Given the description of an element on the screen output the (x, y) to click on. 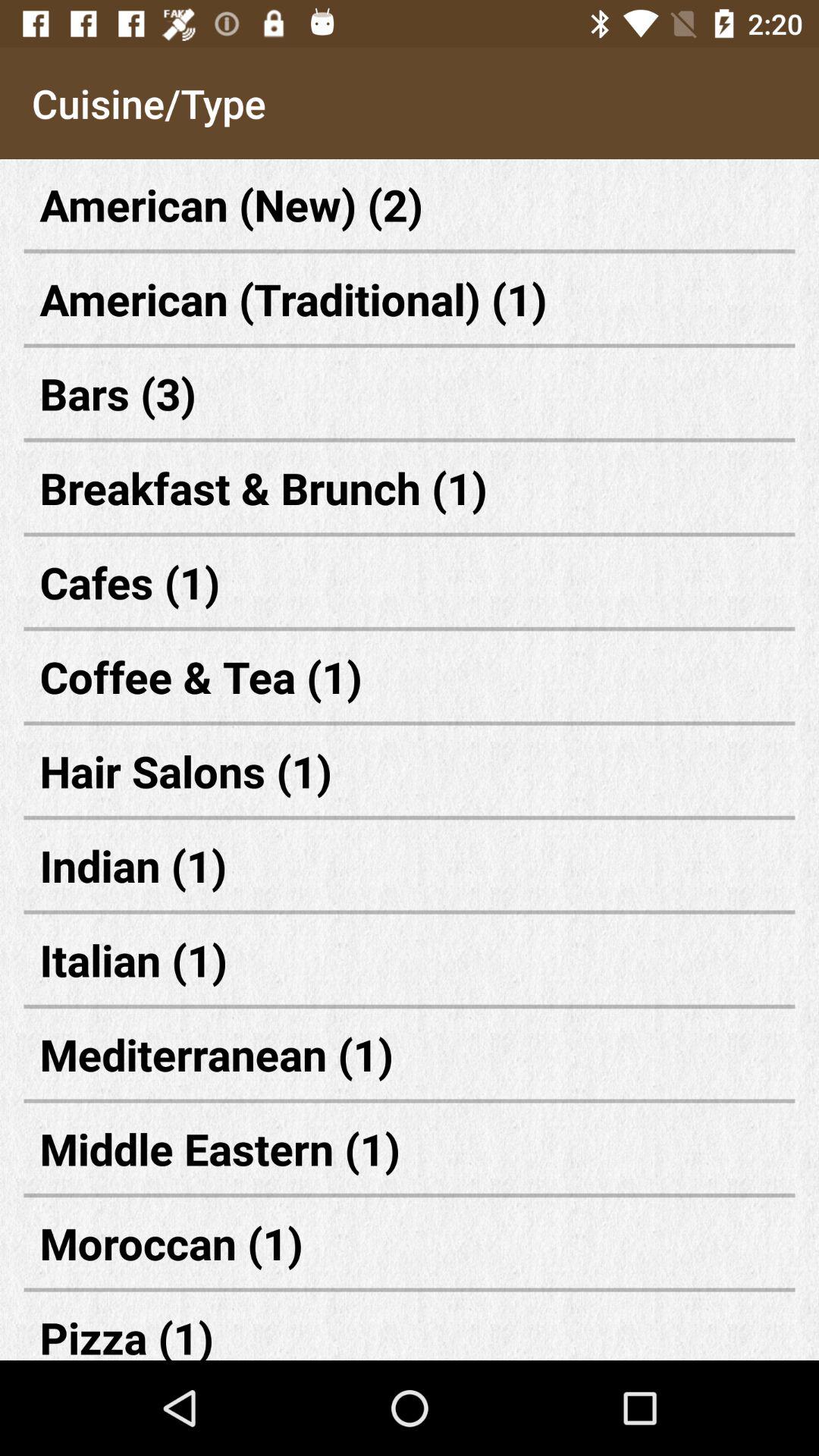
turn on icon below the hair salons (1) icon (409, 865)
